Given the description of an element on the screen output the (x, y) to click on. 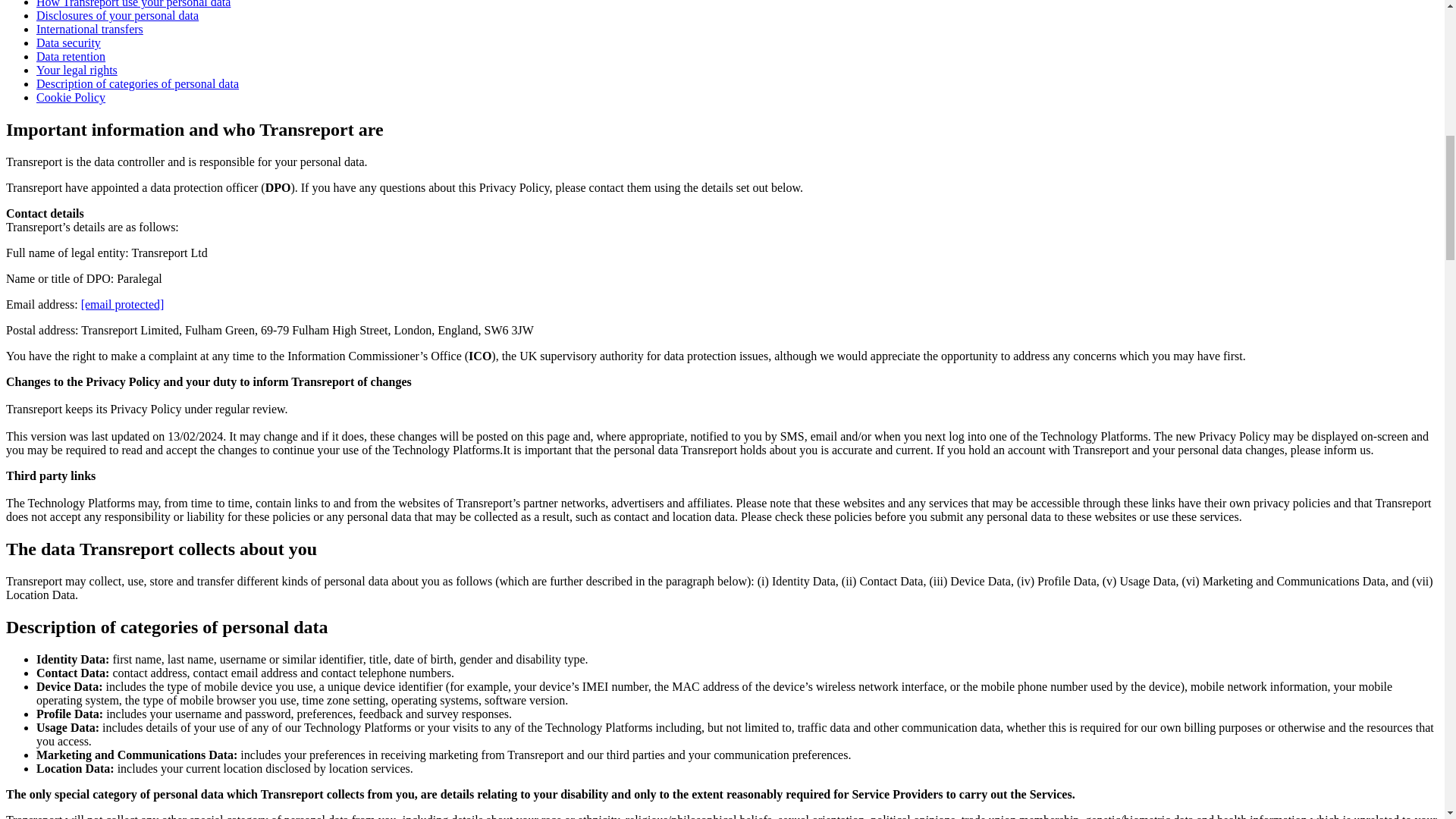
Cookie Policy (70, 97)
International transfers (89, 29)
Data retention (70, 56)
Your legal rights (76, 69)
Description of categories of personal data (137, 83)
How Transreport use your personal data (133, 4)
Data security (68, 42)
Disclosures of your personal data (117, 15)
